Given the description of an element on the screen output the (x, y) to click on. 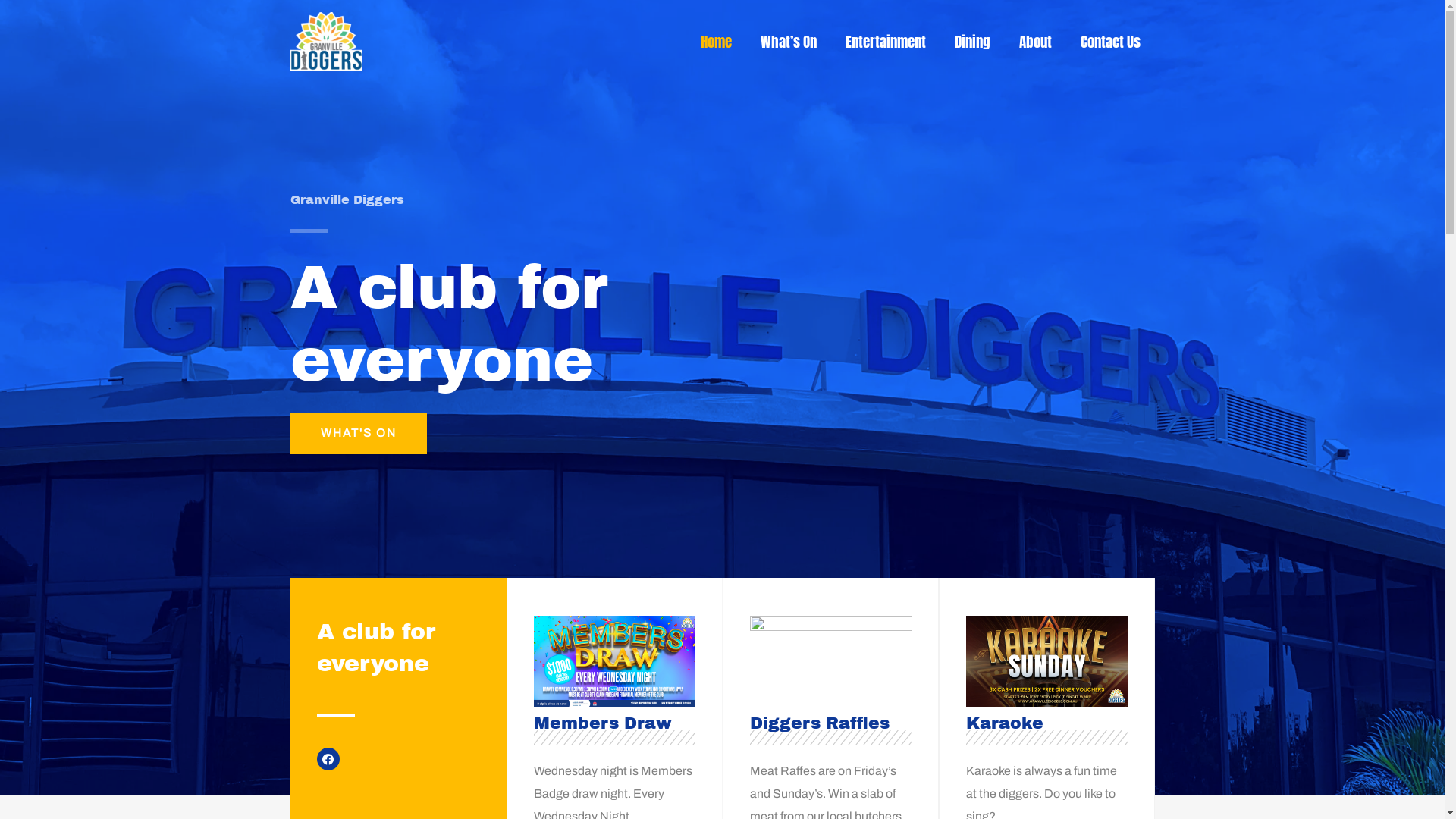
Facebook Element type: text (327, 758)
WHAT'S ON Element type: text (357, 433)
Entertainment Element type: text (885, 41)
About Element type: text (1034, 41)
Home Element type: text (715, 41)
Contact Us Element type: text (1110, 41)
Dining Element type: text (972, 41)
